Given the description of an element on the screen output the (x, y) to click on. 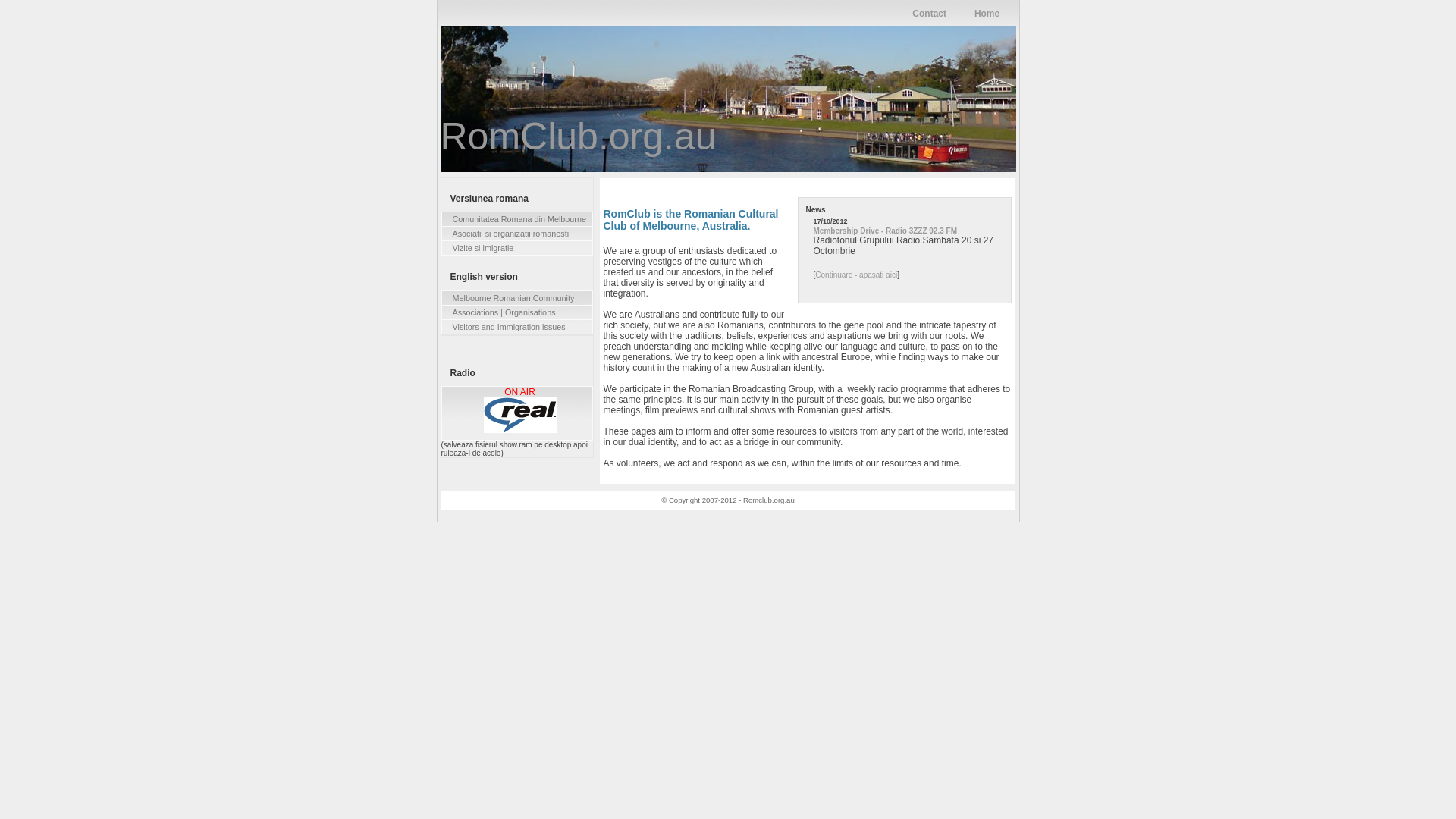
Continuare - apasati aici Element type: text (856, 274)
Vizite si imigratie Element type: text (516, 247)
Visitors and Immigration issues Element type: text (516, 326)
Contact Element type: text (929, 13)
Asociatii si organizatii romanesti Element type: text (516, 233)
Comunitatea Romana din Melbourne Element type: text (516, 218)
Membership Drive - Radio 3ZZZ 92.3 FM Element type: text (884, 230)
Associations | Organisations Element type: text (516, 312)
Melbourne Romanian Community Element type: text (516, 297)
Home Element type: text (987, 13)
RomClub.org.au Element type: text (577, 136)
